Given the description of an element on the screen output the (x, y) to click on. 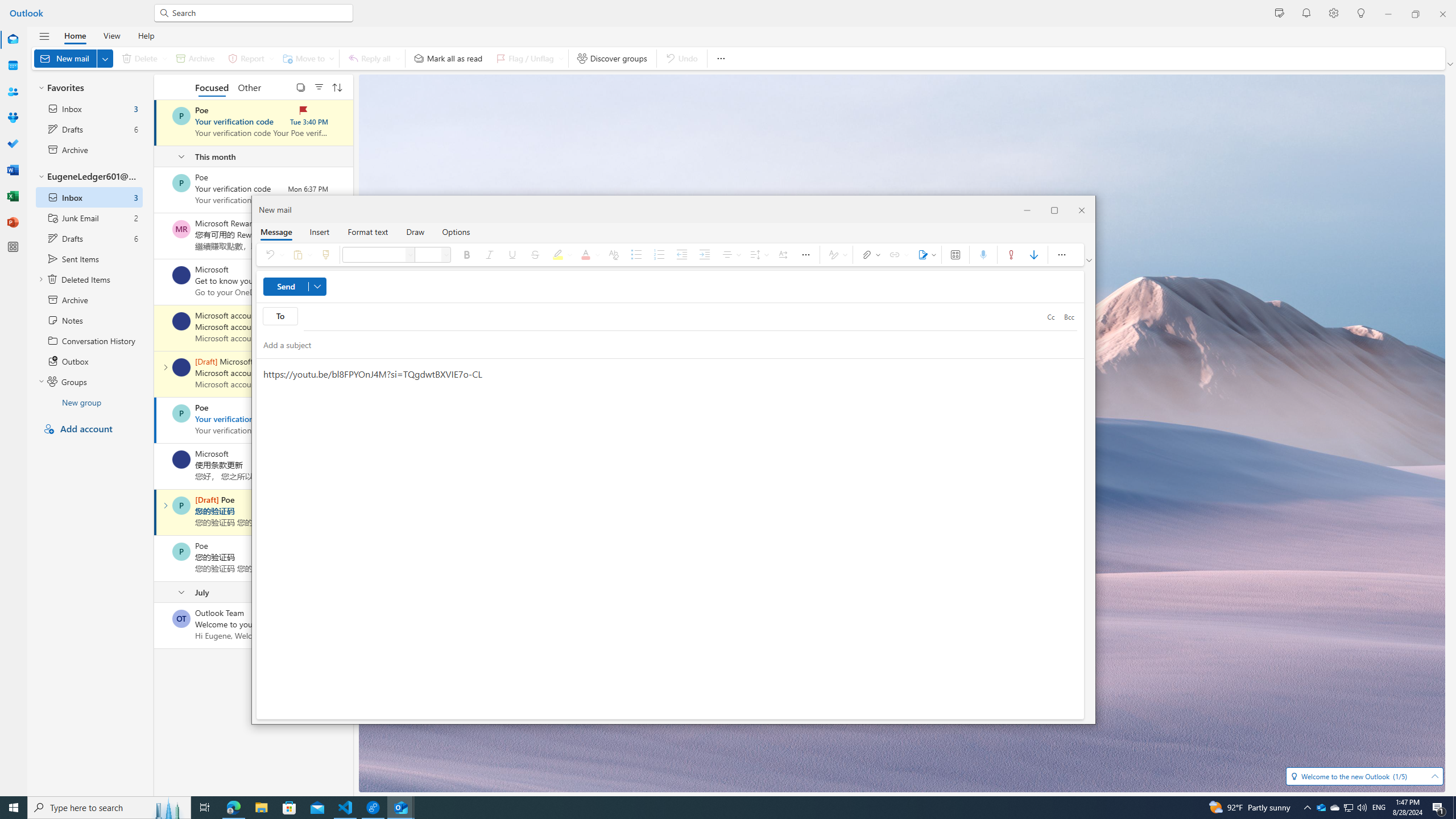
Task View (204, 807)
To (673, 316)
Discover groups (611, 58)
Expand to see more New options (104, 58)
Spacing (757, 254)
Mail (12, 39)
Groups (12, 118)
Draw (415, 231)
Sorted: By Date (336, 86)
Format text (368, 231)
Bcc (1068, 316)
Hide navigation pane (44, 36)
Action Center, 1 new notification (1439, 807)
Search for email, meetings, files and more. (258, 12)
Underline (512, 254)
